Given the description of an element on the screen output the (x, y) to click on. 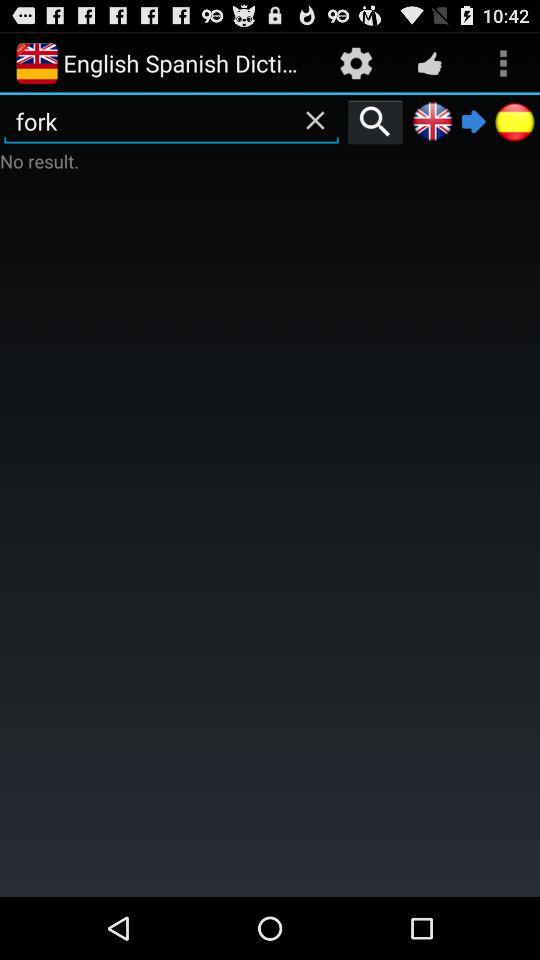
launch item to the right of the fork icon (375, 121)
